Given the description of an element on the screen output the (x, y) to click on. 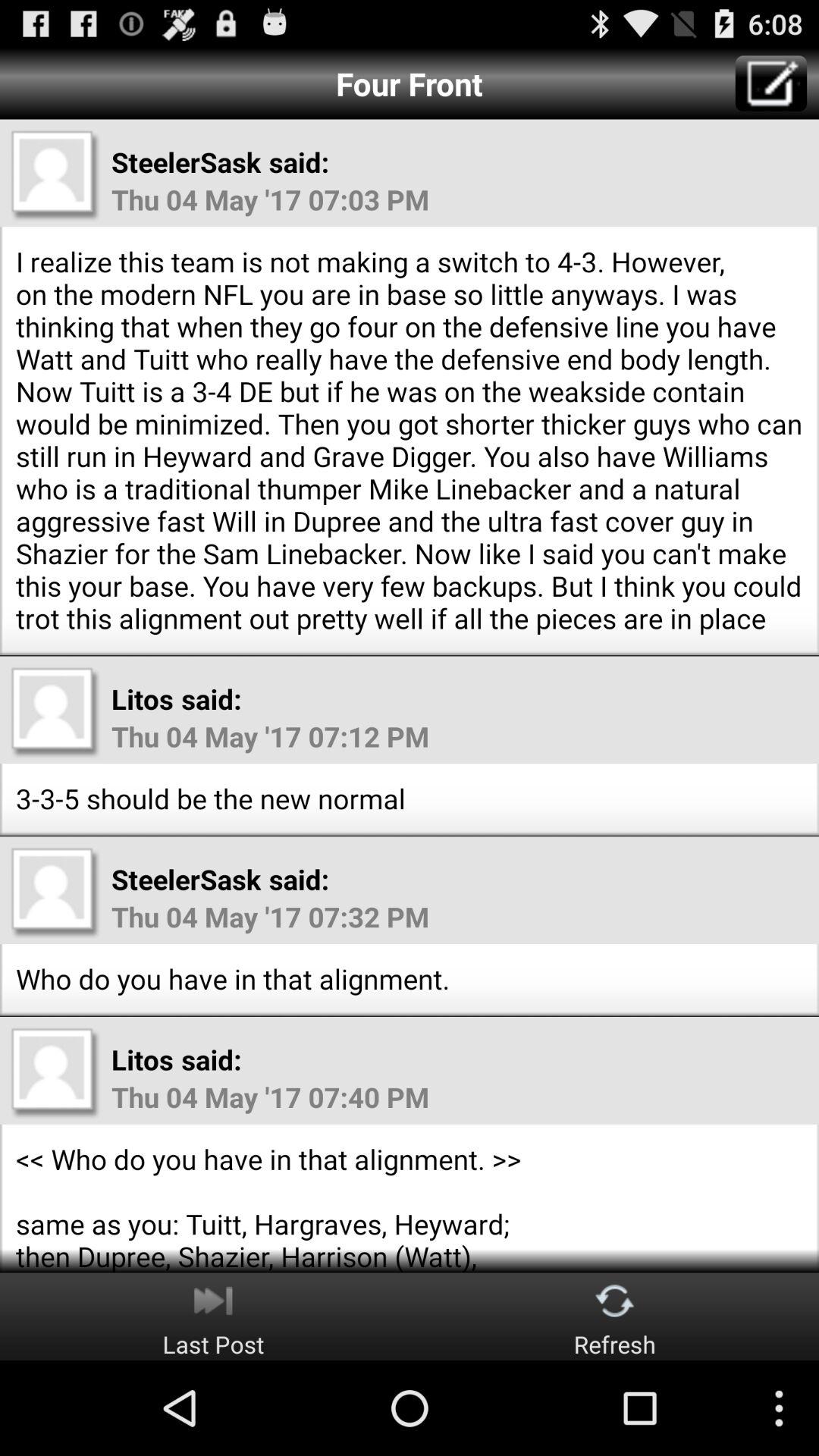
open the icon to the left of refresh item (213, 1316)
